Given the description of an element on the screen output the (x, y) to click on. 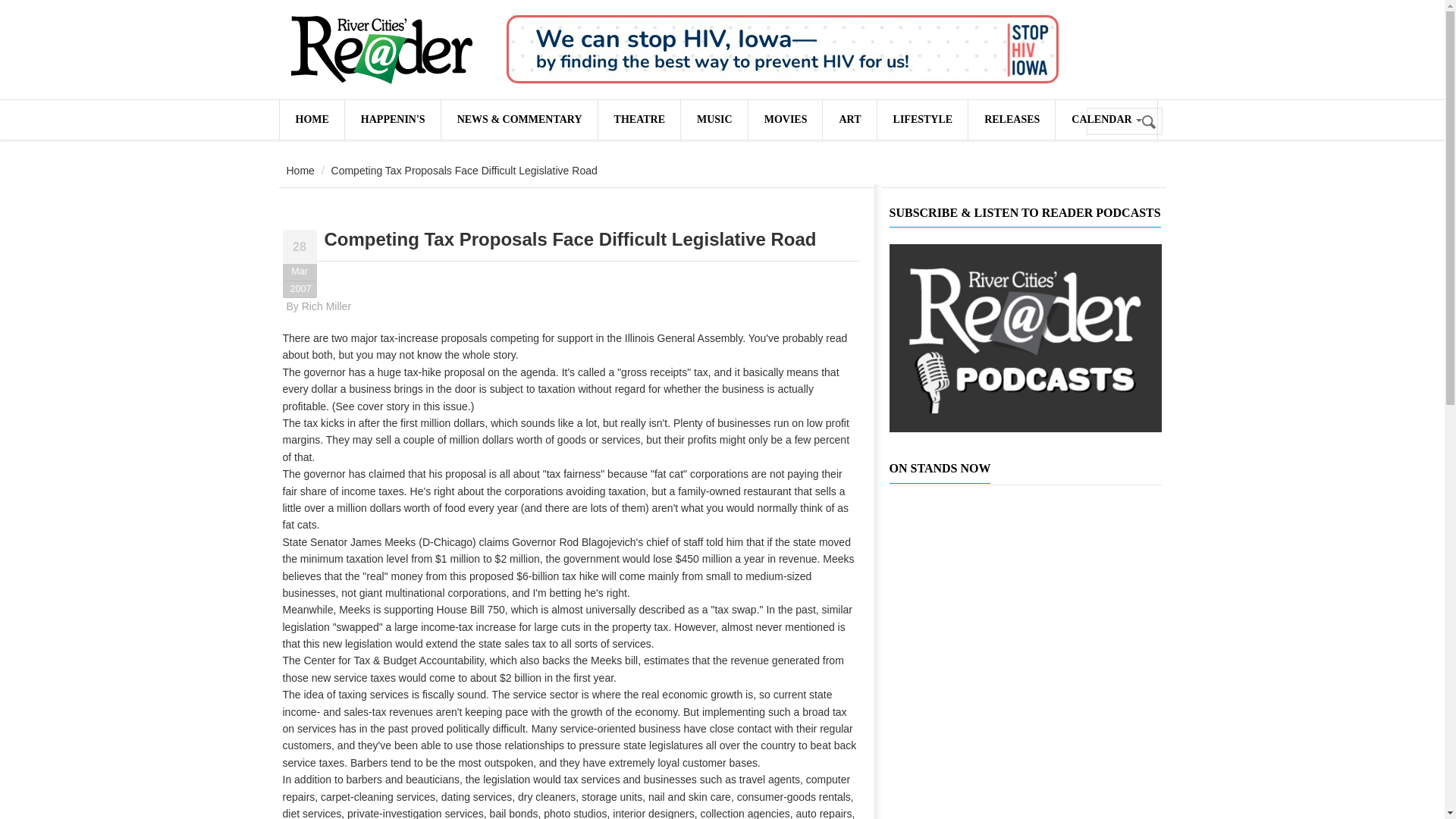
ART (849, 119)
Rich Miller (325, 306)
Home (300, 170)
Home (381, 49)
News Releases (1011, 119)
MUSIC (714, 119)
Search (1149, 122)
MOVIES (785, 119)
Theatre (638, 119)
Competing Tax Proposals Face Difficult Legislative Road (570, 239)
Home page (311, 119)
HOME (311, 119)
Search (1149, 122)
What's Happenin' in the River Cities (393, 119)
